Given the description of an element on the screen output the (x, y) to click on. 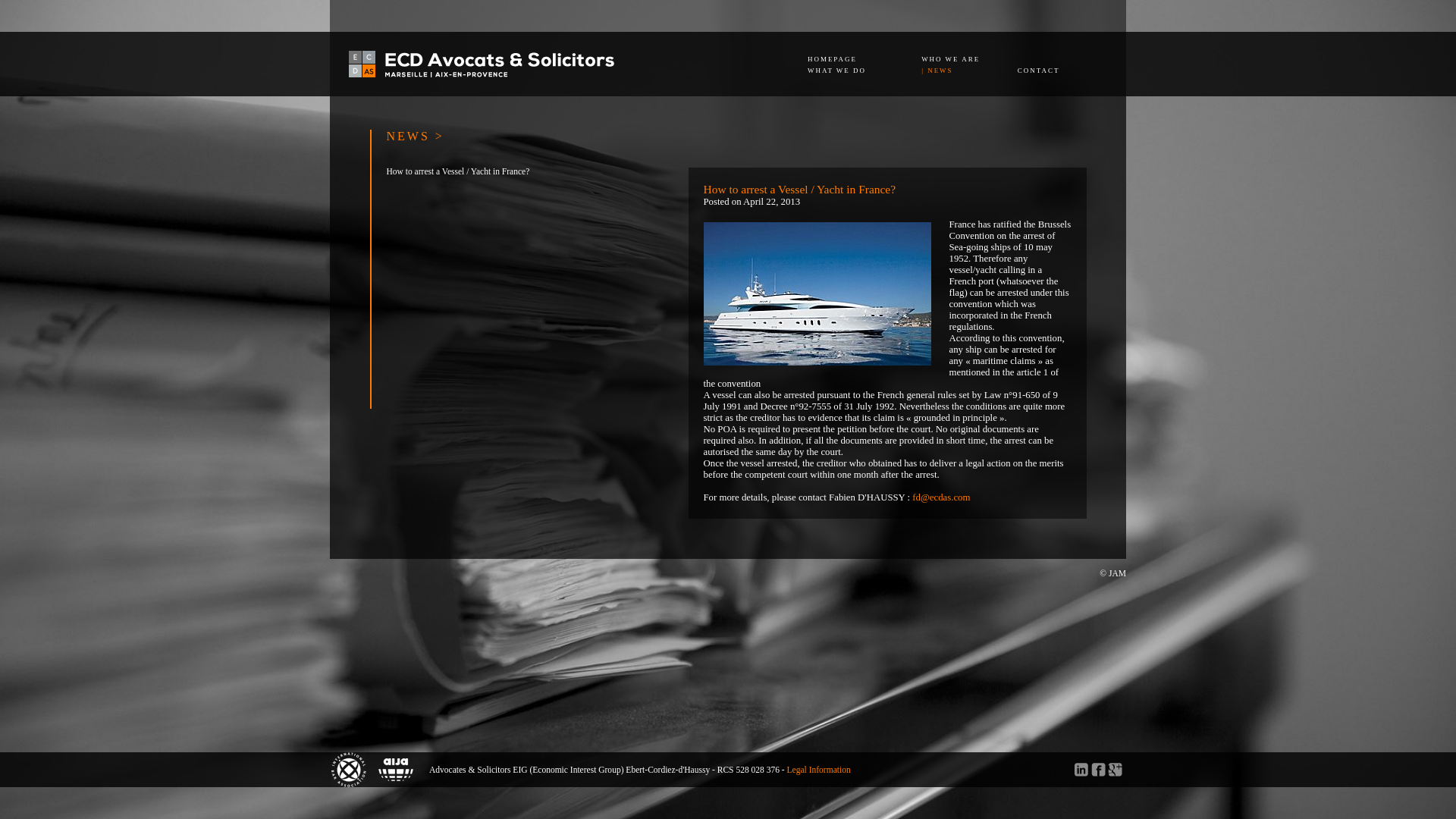
Legal Information (818, 768)
WHO WE ARE (950, 58)
HOMEPAGE (832, 58)
WHAT WE DO (837, 70)
CONTACT (1038, 70)
